Given the description of an element on the screen output the (x, y) to click on. 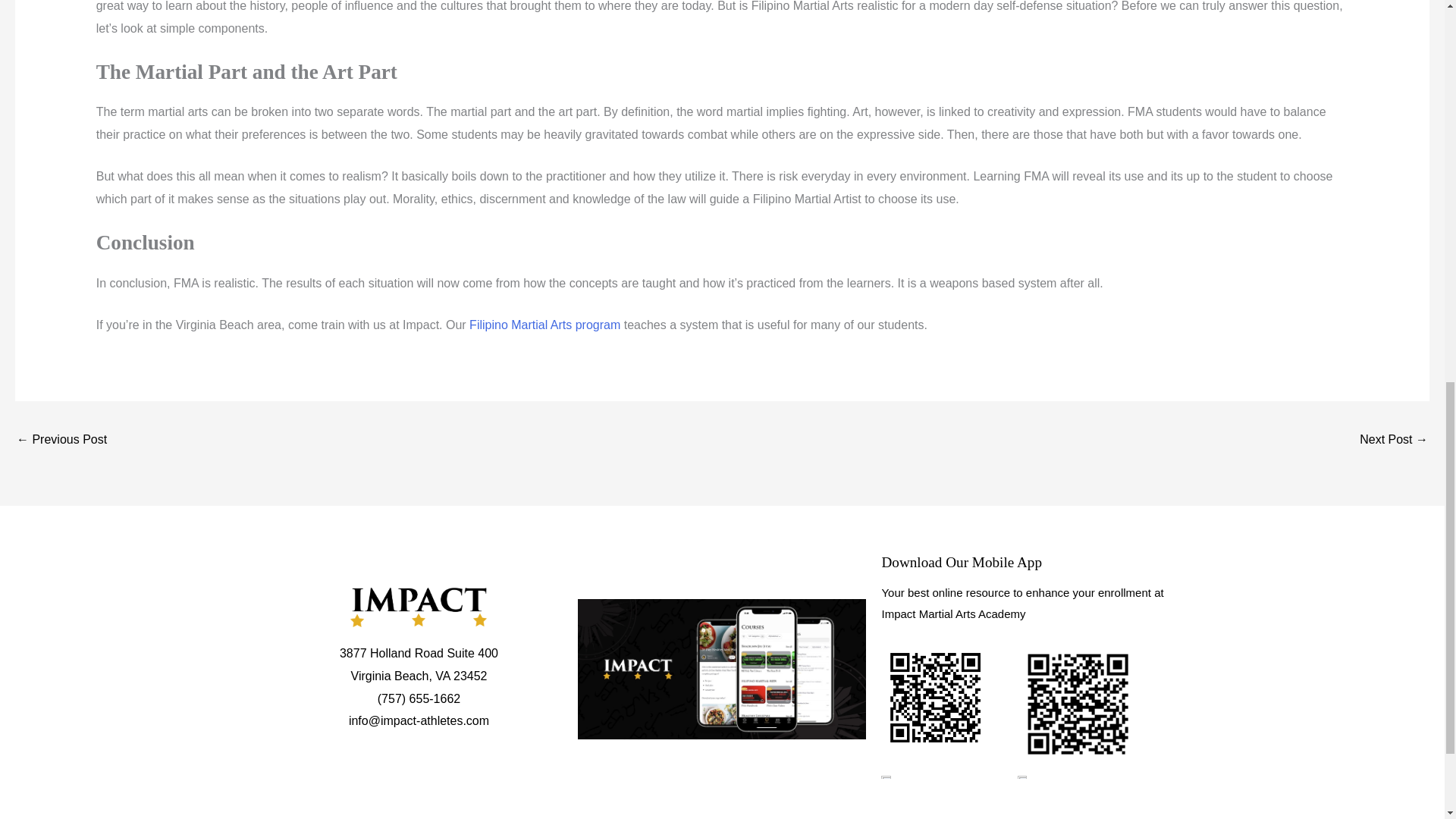
Is Training BJJ Twice a Week Enough? (61, 440)
Filipino Martial Arts program (544, 324)
What Muay Thai Does To Your Body (1393, 440)
